Given the description of an element on the screen output the (x, y) to click on. 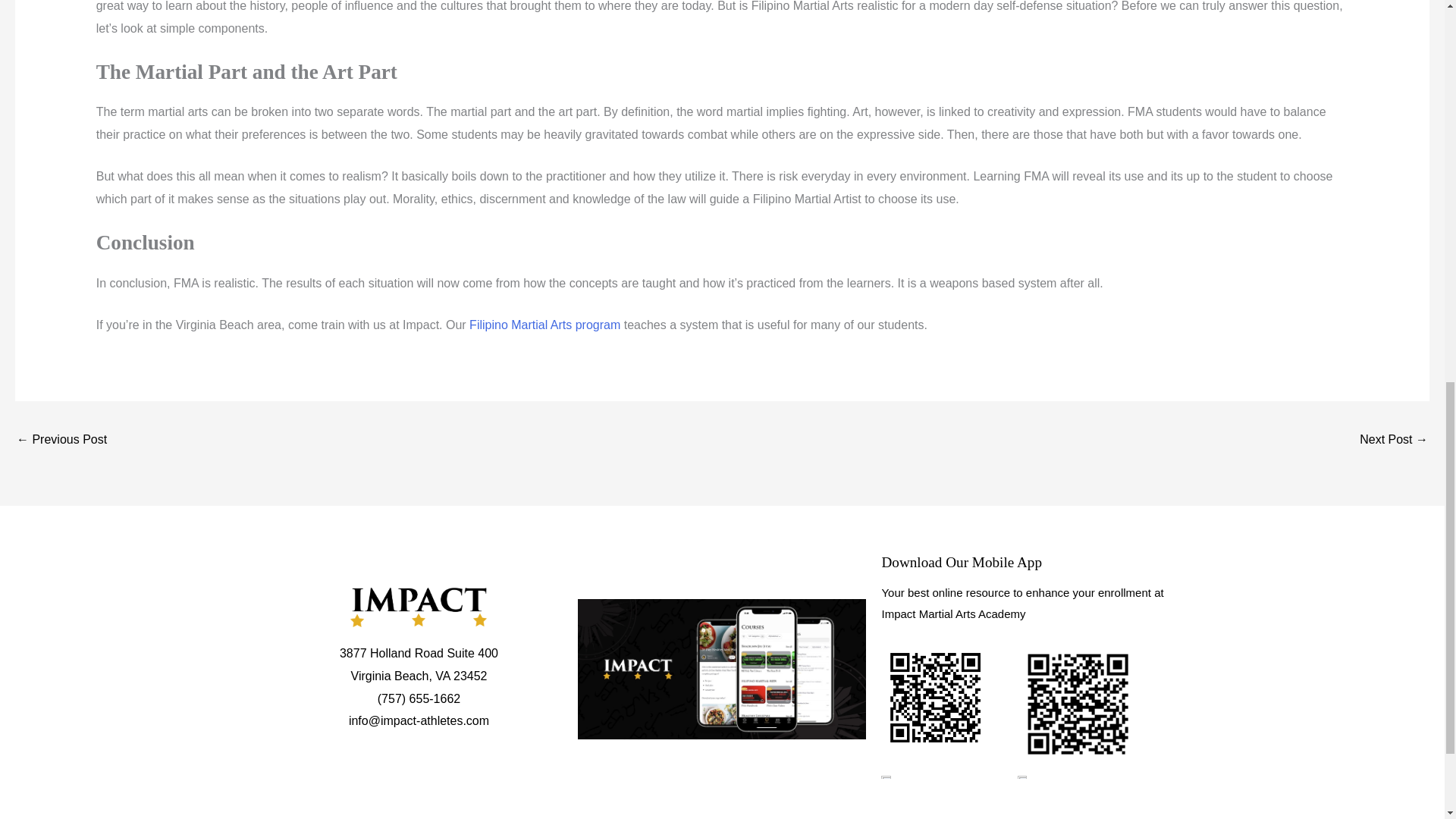
Is Training BJJ Twice a Week Enough? (61, 440)
Filipino Martial Arts program (544, 324)
What Muay Thai Does To Your Body (1393, 440)
